Given the description of an element on the screen output the (x, y) to click on. 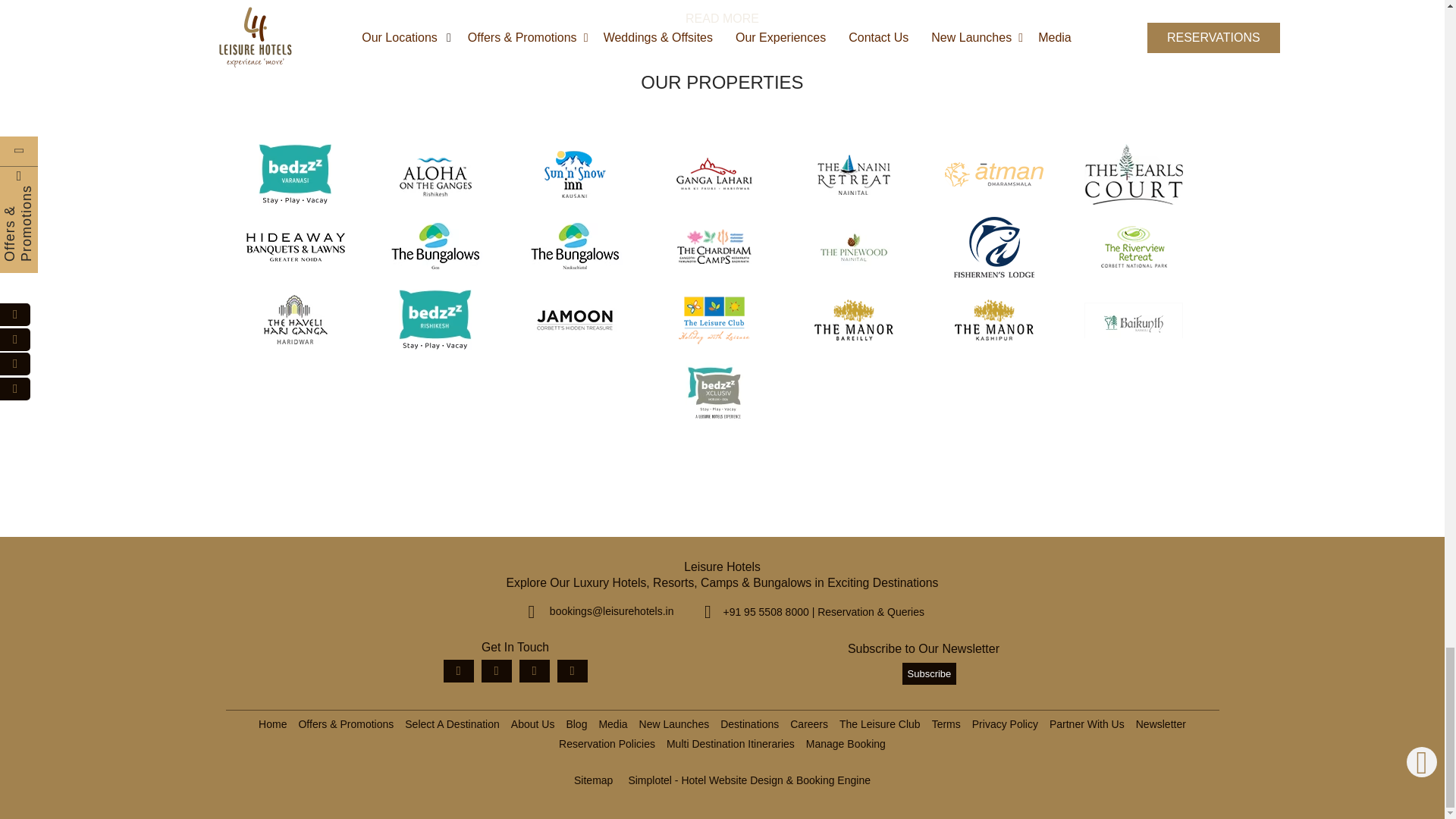
Manor Bareilly (853, 319)
Manor Kashipur (993, 319)
The Riverview Retreat (1133, 247)
The Leisure Club Logo (713, 319)
Aloha on the Ganges (434, 174)
Baikunth Resort, Kasauli (1133, 320)
Ganga Lahari (713, 174)
click here for sitemap (592, 779)
Sun N Snow Inn (574, 174)
